Given the description of an element on the screen output the (x, y) to click on. 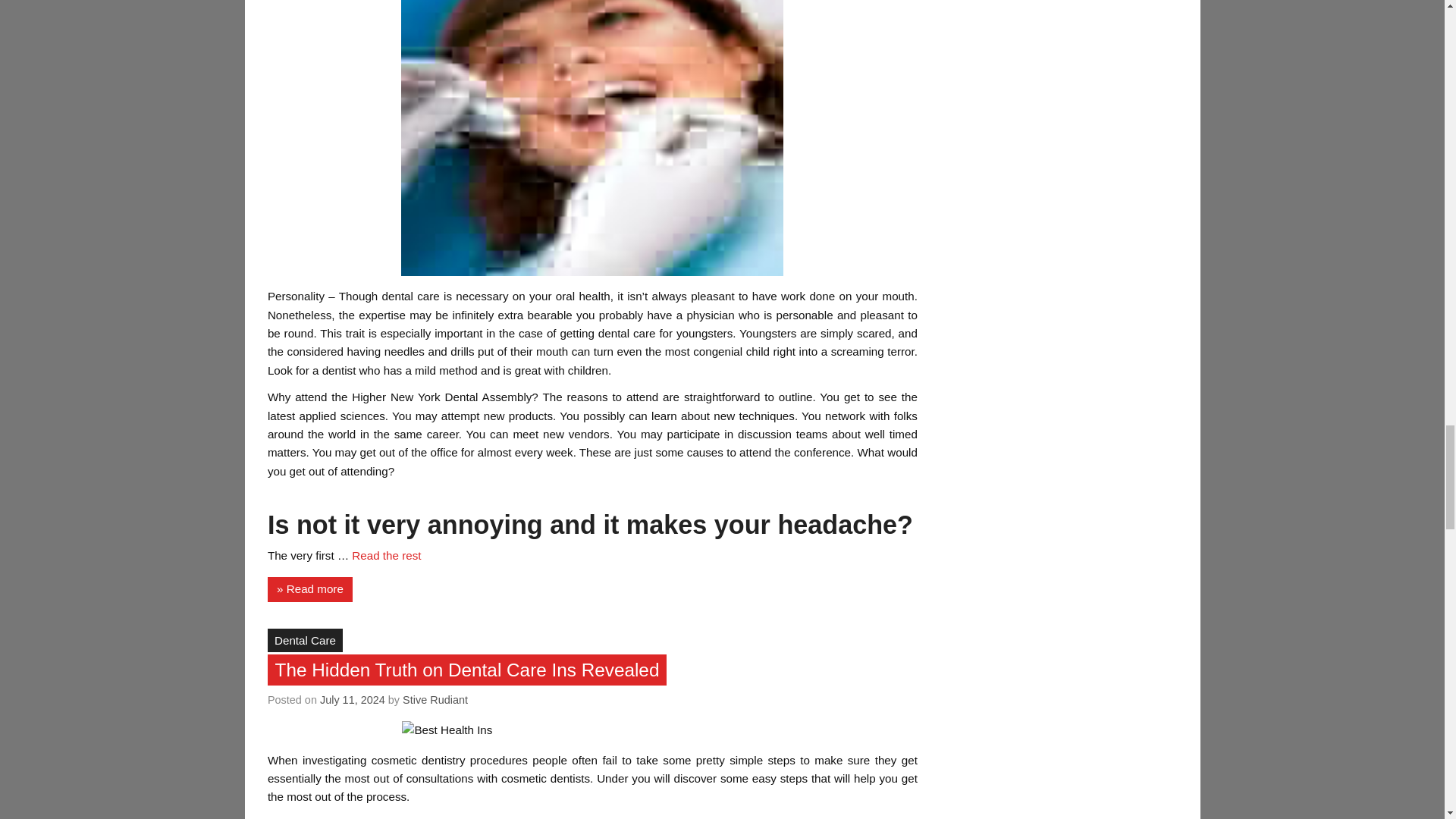
July 11, 2024 (352, 699)
View all posts by Stive Rudiant (435, 699)
Read the rest (386, 554)
12:30 pm (352, 699)
Dental Care (304, 639)
The Hidden Truth on Dental Care Ins Revealed (467, 670)
